Given the description of an element on the screen output the (x, y) to click on. 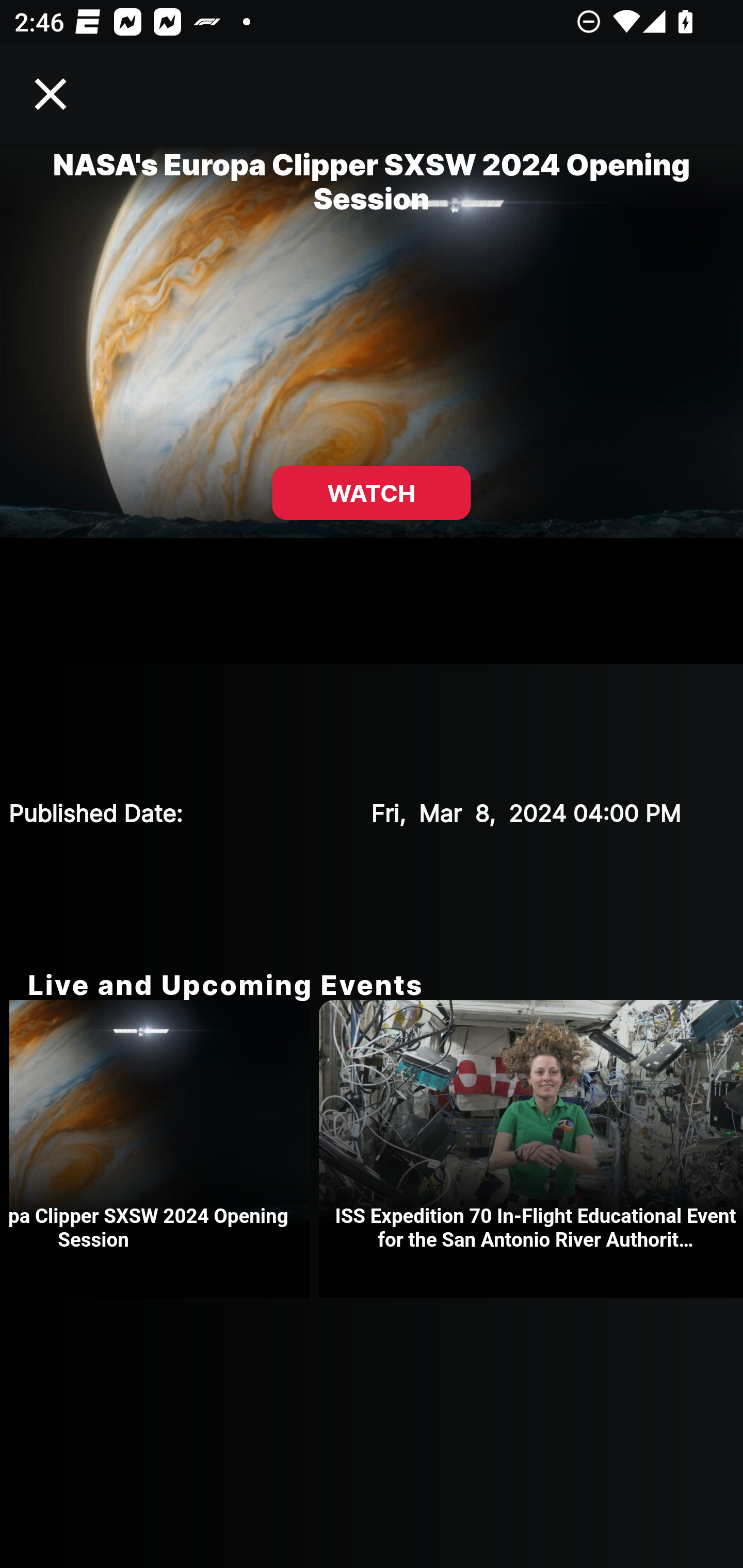
WATCH (371, 492)
NASA's Europa Clipper SXSW 2024 Opening Session (163, 1149)
